Given the description of an element on the screen output the (x, y) to click on. 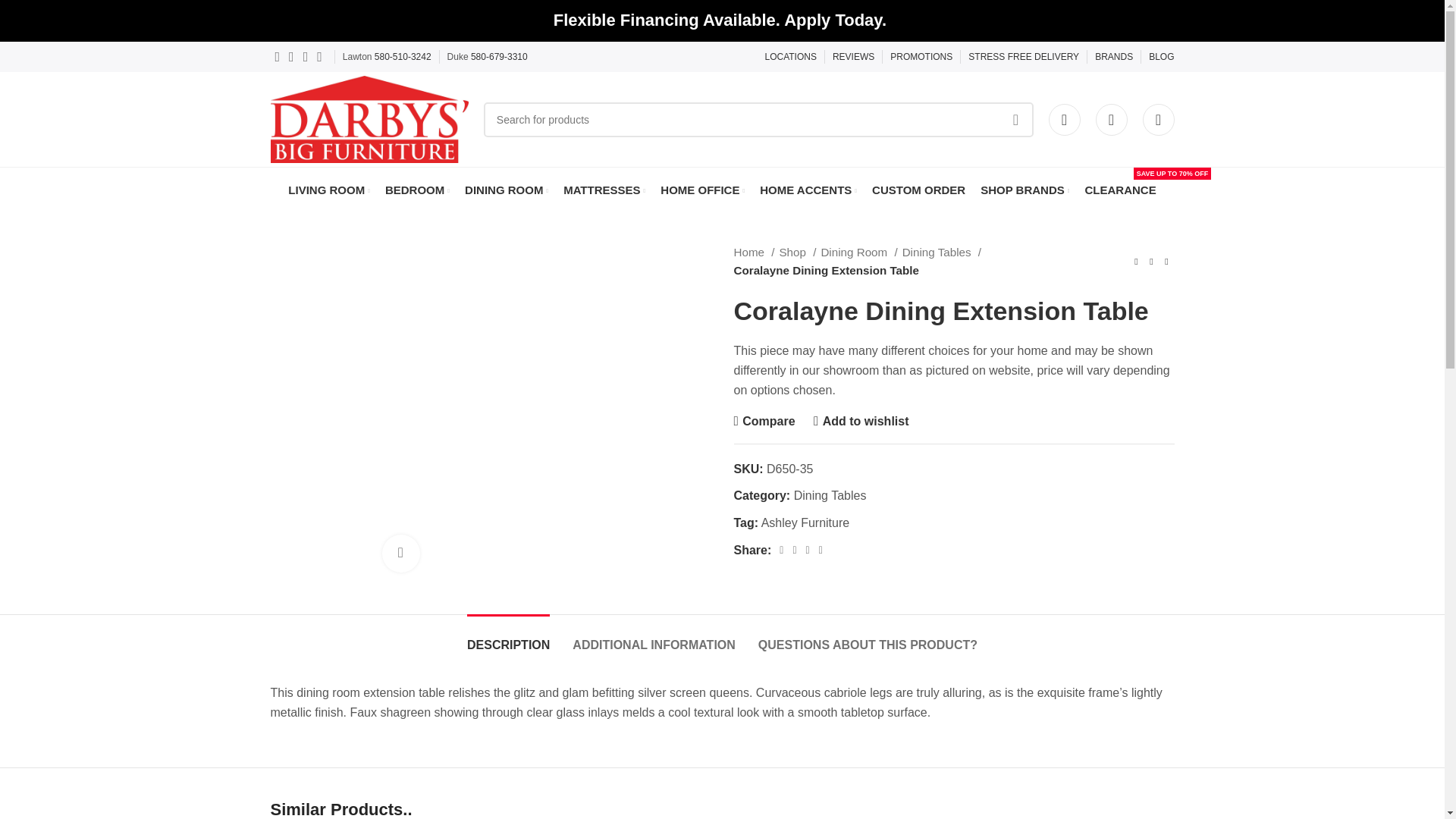
580-679-3310 (498, 56)
580-510-3242 (402, 56)
Log in (954, 387)
REVIEWS (853, 56)
Search for products (758, 118)
LOCATIONS (789, 56)
My account (1064, 119)
PROMOTIONS (920, 56)
My Wishlist (1110, 119)
LIVING ROOM (328, 190)
